Given the description of an element on the screen output the (x, y) to click on. 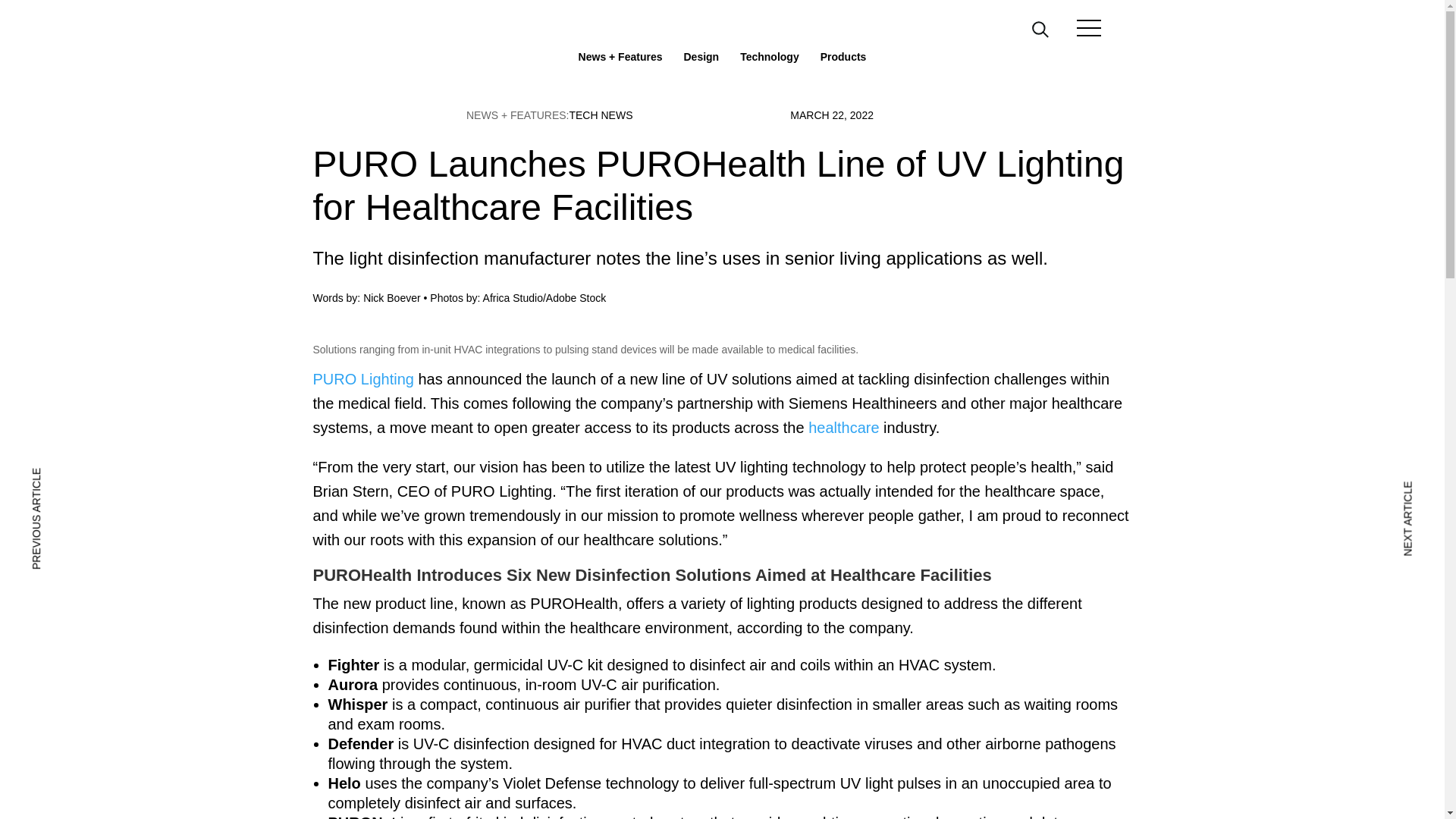
Design (700, 57)
TECH NEWS (600, 114)
Technology (769, 57)
Search IconA magnifying glass icon. (1040, 29)
PREVIOUS ARTICLE (74, 480)
healthcare (843, 427)
Products (843, 57)
PURO Lighting (363, 379)
